Given the description of an element on the screen output the (x, y) to click on. 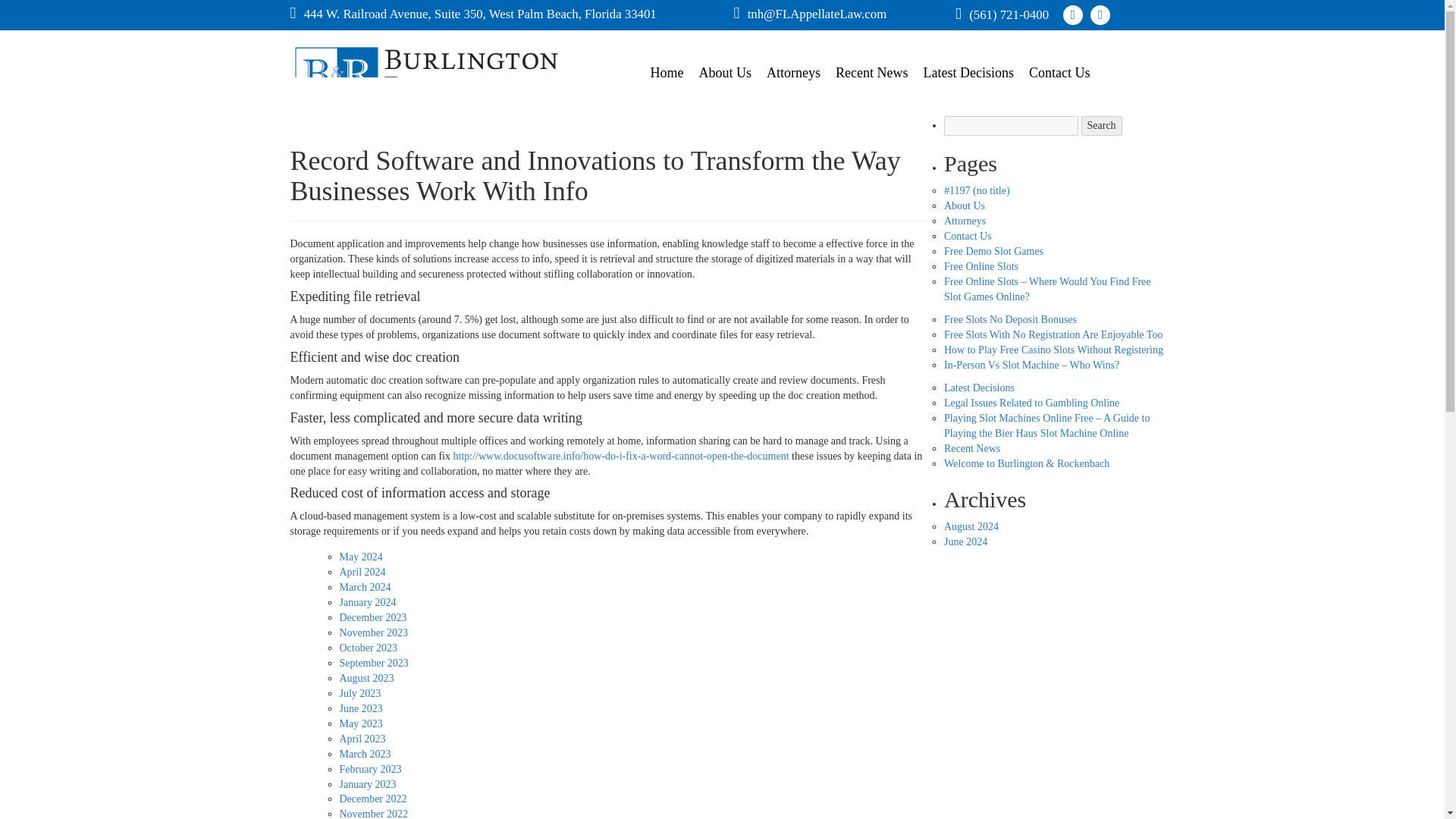
Contact Us (967, 235)
August 2023 (366, 677)
Recent News (871, 72)
November 2023 (374, 632)
Free Slots No Deposit Bonuses (1010, 319)
About Us (725, 72)
Search (1101, 125)
May 2024 (360, 556)
Free Online Slots (980, 266)
Free Slots With No Registration Are Enjoyable Too (1052, 334)
